Given the description of an element on the screen output the (x, y) to click on. 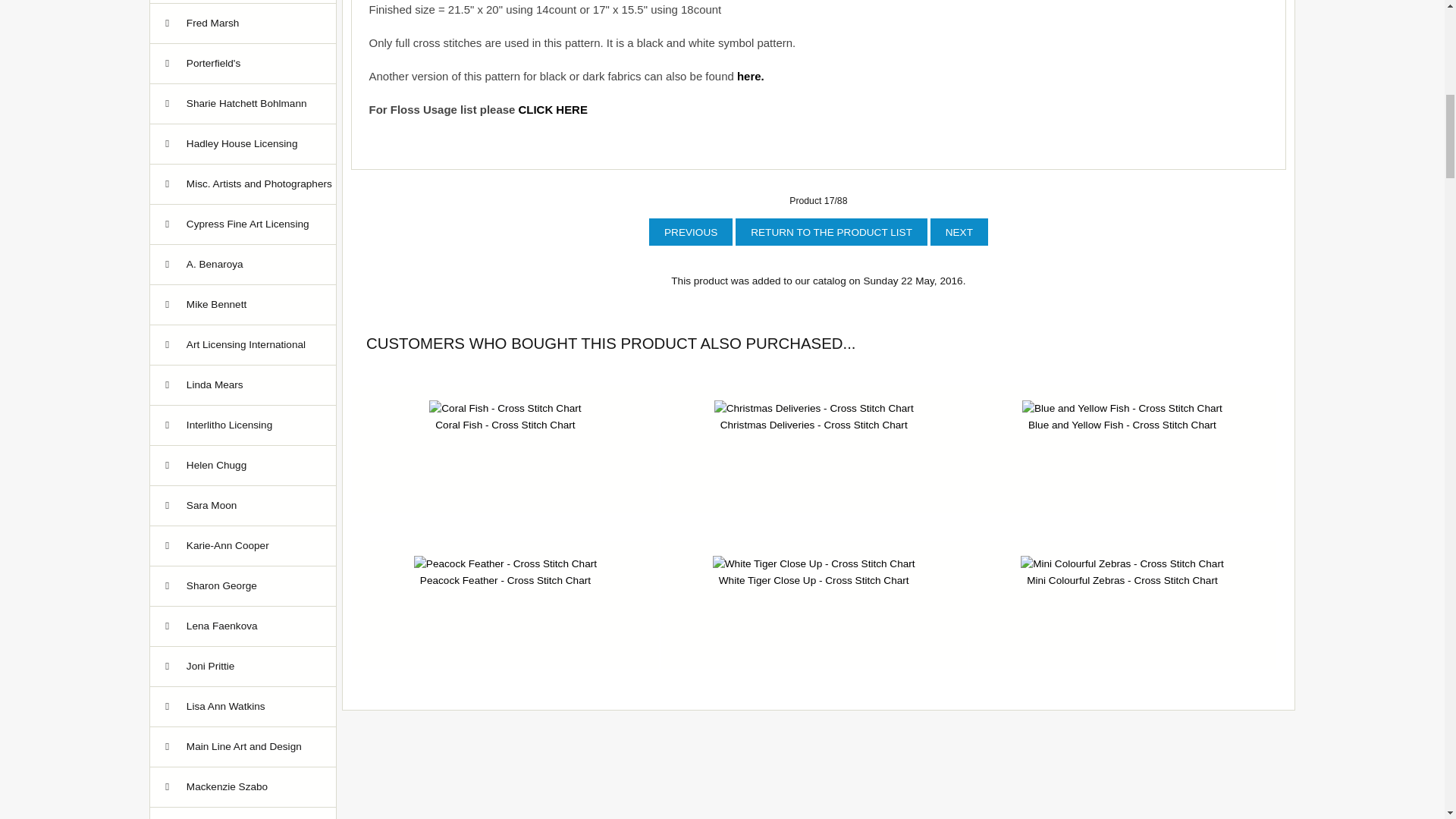
Peacock Feather - Cross Stitch Chart (504, 564)
Christmas Deliveries - Cross Stitch Chart (814, 408)
Blue and Yellow Fish - Cross Stitch Chart (1122, 408)
Coral Fish - Cross Stitch Chart (504, 408)
